Given the description of an element on the screen output the (x, y) to click on. 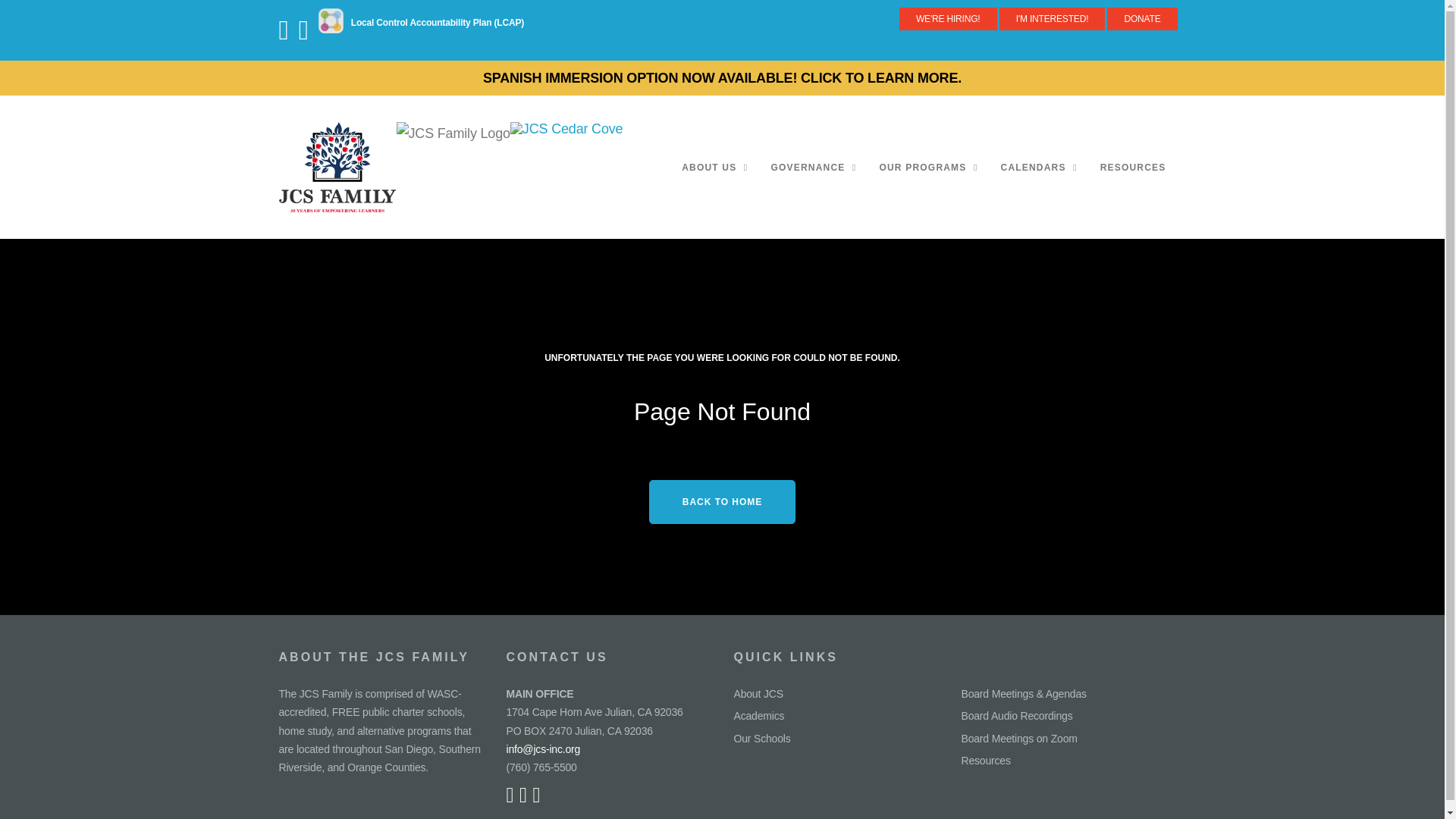
GOVERNANCE (813, 167)
I'M INTERESTED! (1051, 18)
OUR PROGRAMS (927, 167)
About JCS (758, 693)
BACK TO HOME (721, 501)
Cedar Cove on ParentSquare (334, 36)
Academics (758, 715)
RESOURCES (1133, 167)
DONATE (1141, 18)
ABOUT US (714, 167)
